Given the description of an element on the screen output the (x, y) to click on. 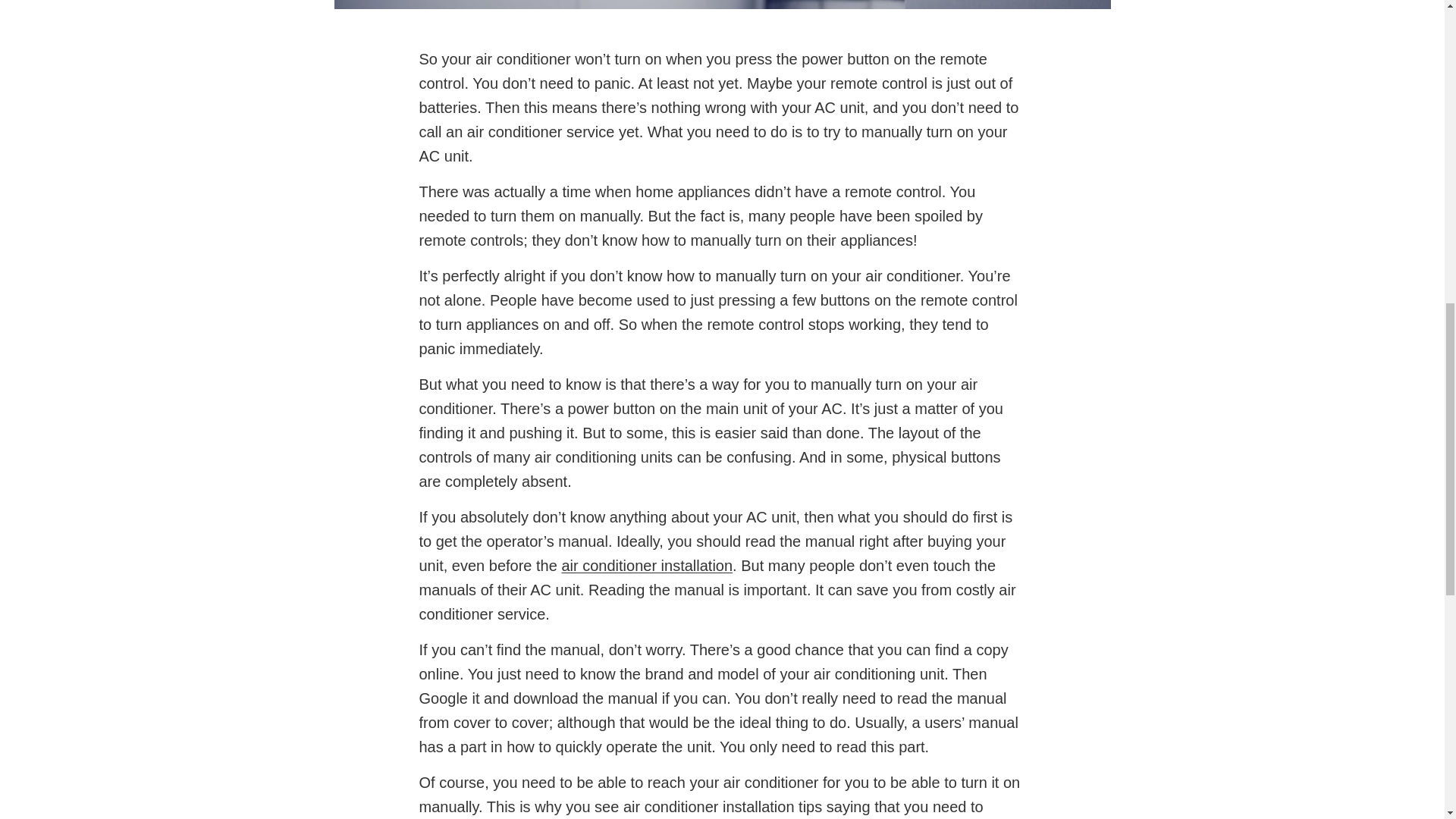
air conditioner installation (646, 565)
